Given the description of an element on the screen output the (x, y) to click on. 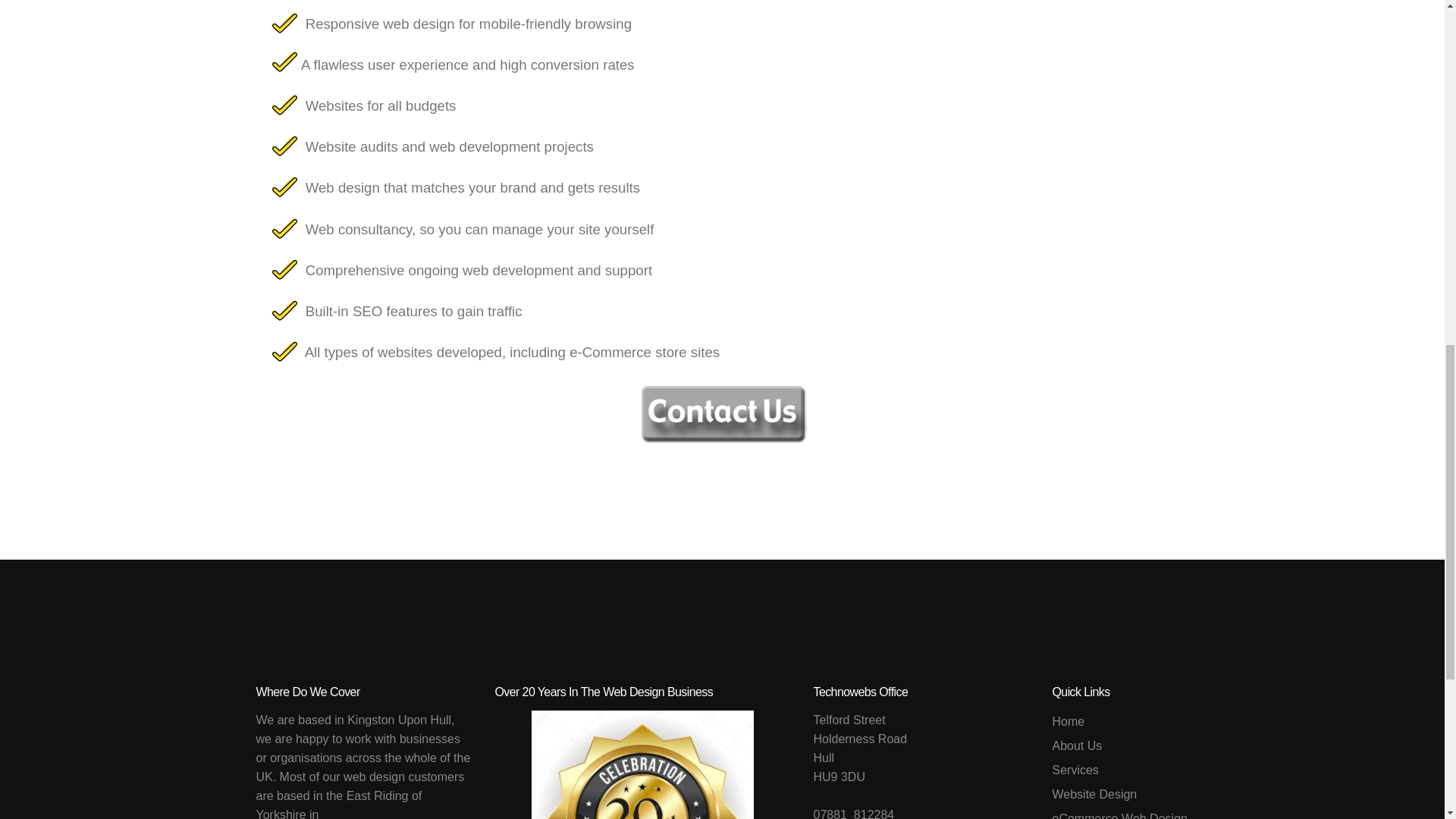
eCommerce Web Design (1119, 813)
Services (1119, 770)
Website Design (1119, 793)
About Us (1119, 745)
Home (1119, 721)
